Given the description of an element on the screen output the (x, y) to click on. 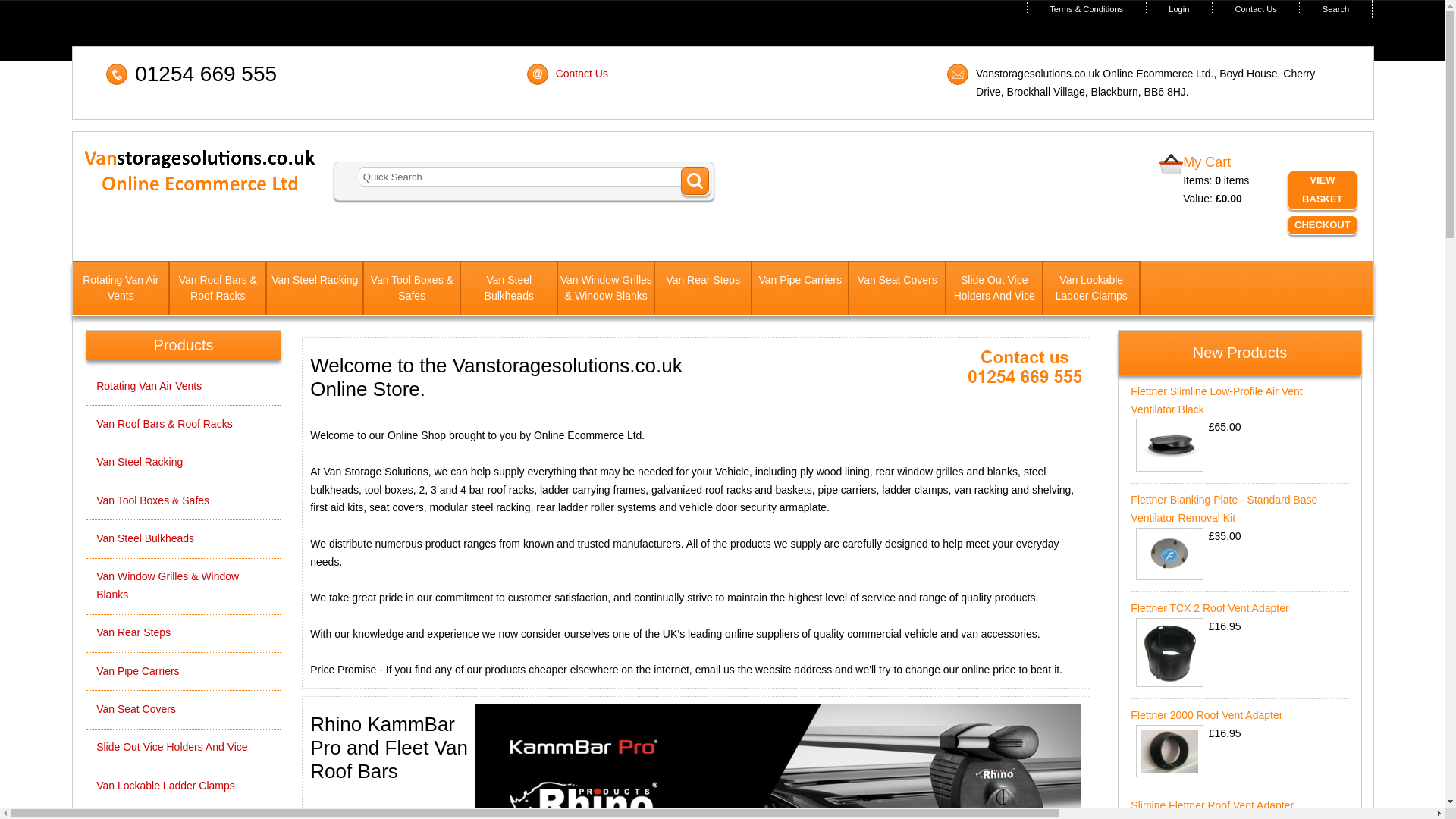
Login (1179, 8)
Rotating Van Air Vents (120, 287)
Van Steel Racking (314, 287)
Quick Search (533, 176)
Van Pipe Carriers (799, 287)
Van Steel Bulkheads (508, 287)
Welcome to the Vanstoragesolutions.co.uk Online Store. (1024, 369)
Slide Out Vice Holders And Vice (994, 287)
Go! (695, 181)
Van Lockable Ladder Clamps (1090, 287)
